Given the description of an element on the screen output the (x, y) to click on. 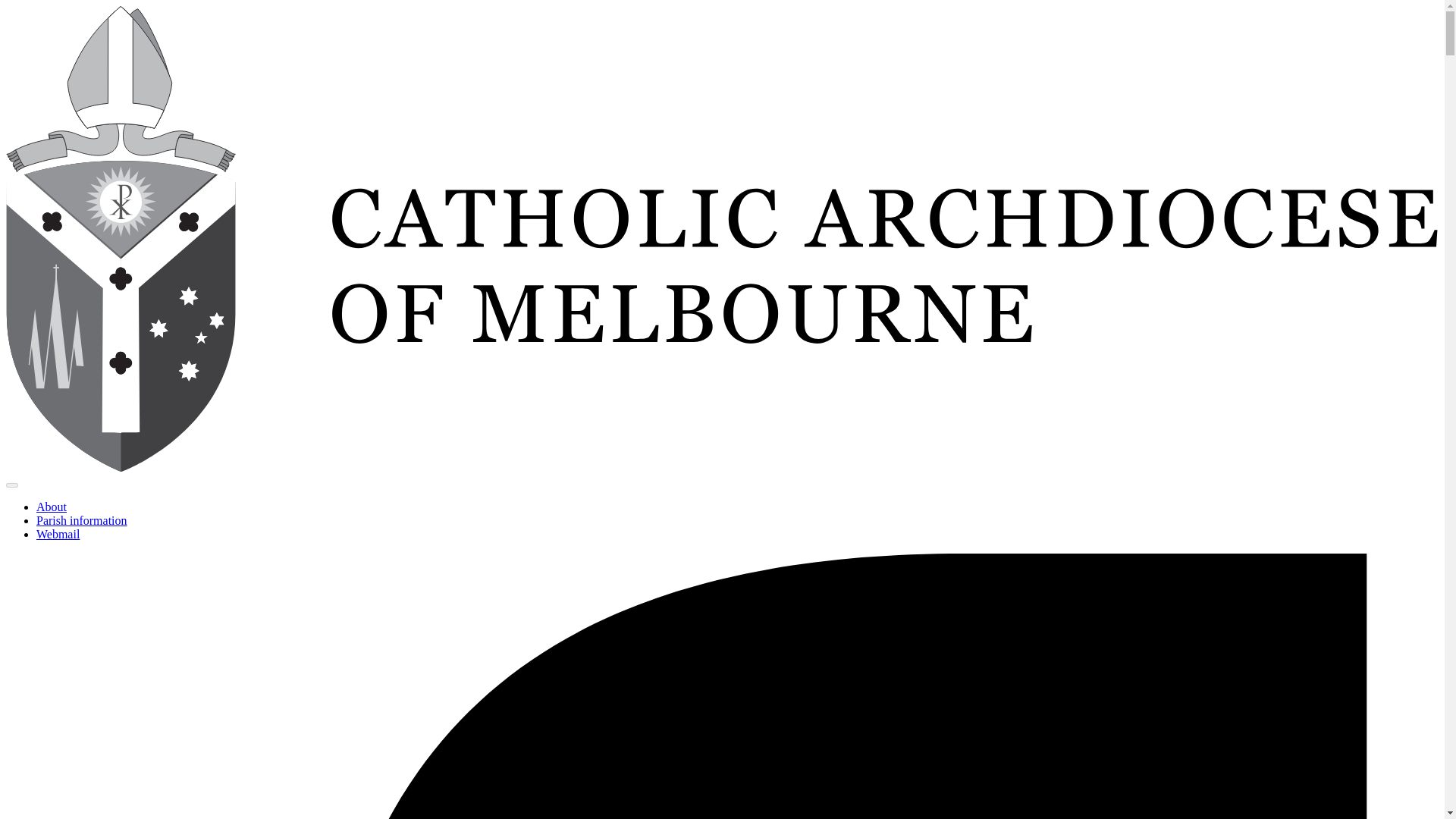
Webmail (58, 533)
Parish information (82, 520)
About (51, 506)
